Given the description of an element on the screen output the (x, y) to click on. 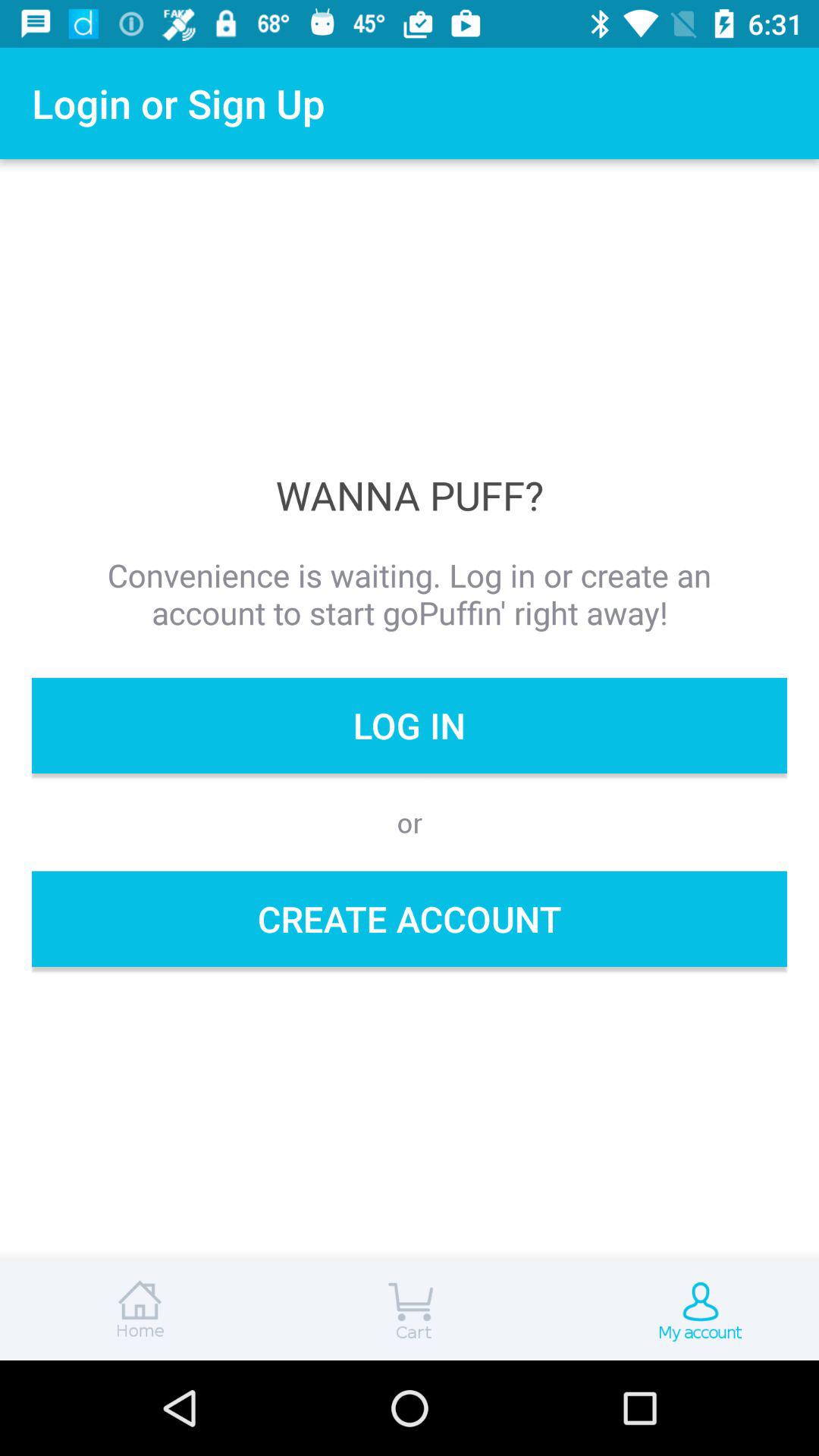
go to account page (682, 1310)
